Given the description of an element on the screen output the (x, y) to click on. 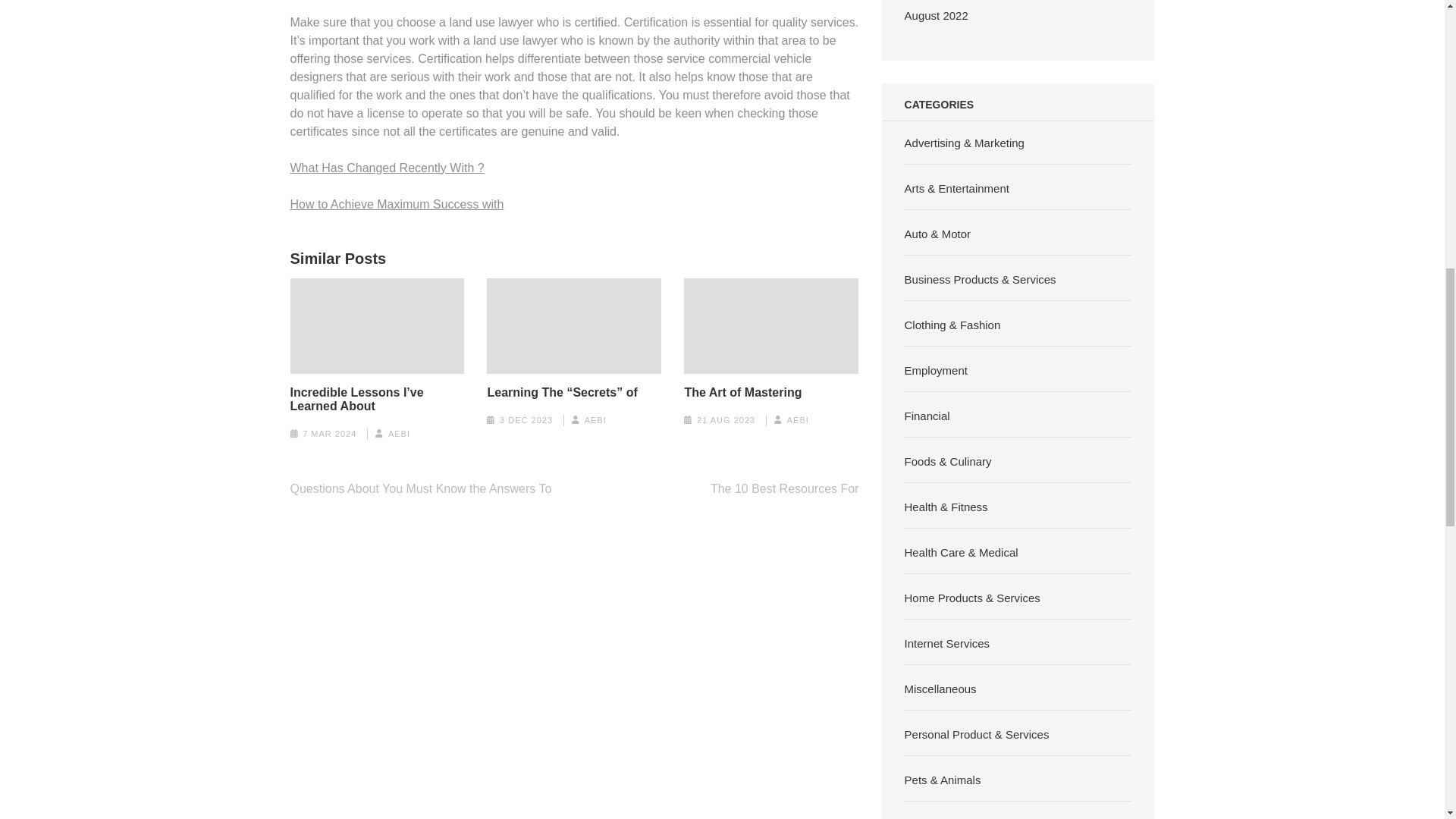
3 DEC 2023 (526, 420)
AEBI (798, 420)
Questions About You Must Know the Answers To (420, 488)
How to Achieve Maximum Success with (396, 203)
21 AUG 2023 (726, 420)
The Art of Mastering (743, 392)
What Has Changed Recently With ? (386, 166)
AEBI (596, 420)
7 MAR 2024 (329, 433)
AEBI (399, 433)
The 10 Best Resources For (784, 488)
